Given the description of an element on the screen output the (x, y) to click on. 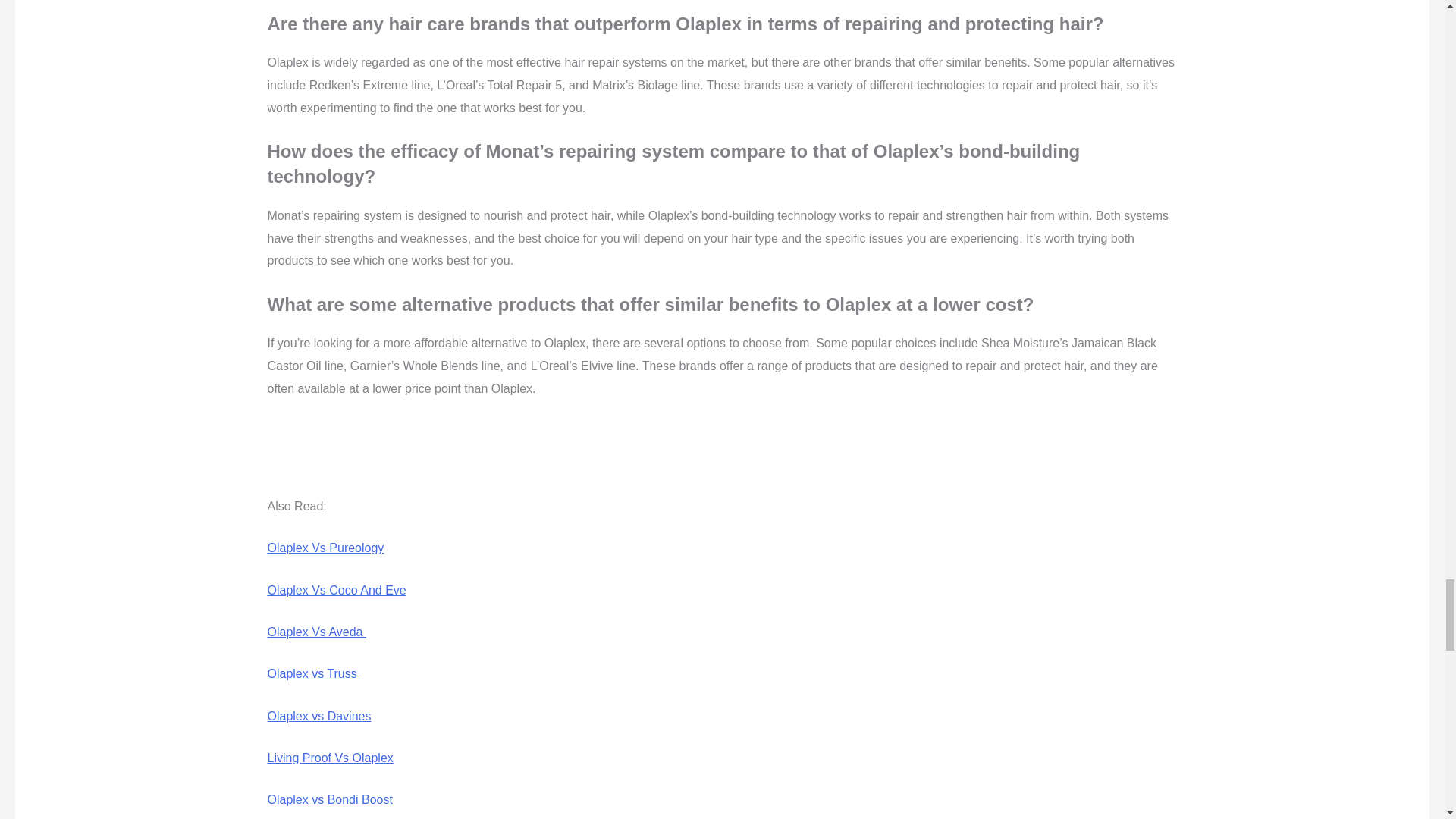
Living Proof Vs Olaplex (329, 757)
Olaplex Vs Coco And Eve (336, 590)
Olaplex Vs Aveda  (315, 631)
Olaplex vs Davines (318, 716)
Olaplex Vs Pureology (325, 547)
Olaplex vs Bondi Boost (328, 799)
Olaplex vs Truss  (312, 673)
